Given the description of an element on the screen output the (x, y) to click on. 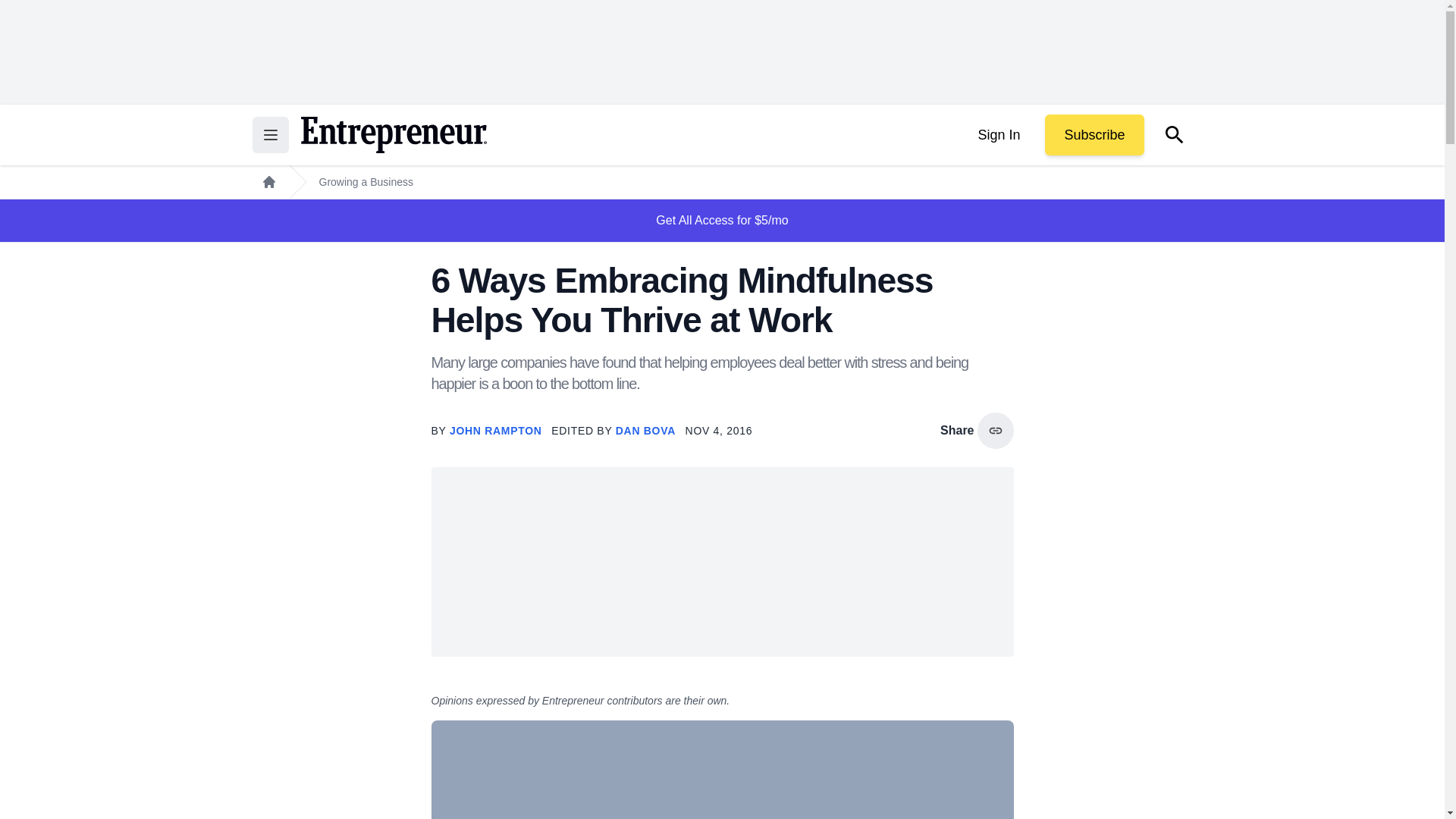
copy (994, 430)
Sign In (998, 134)
Subscribe (1093, 134)
Return to the home page (392, 135)
